Given the description of an element on the screen output the (x, y) to click on. 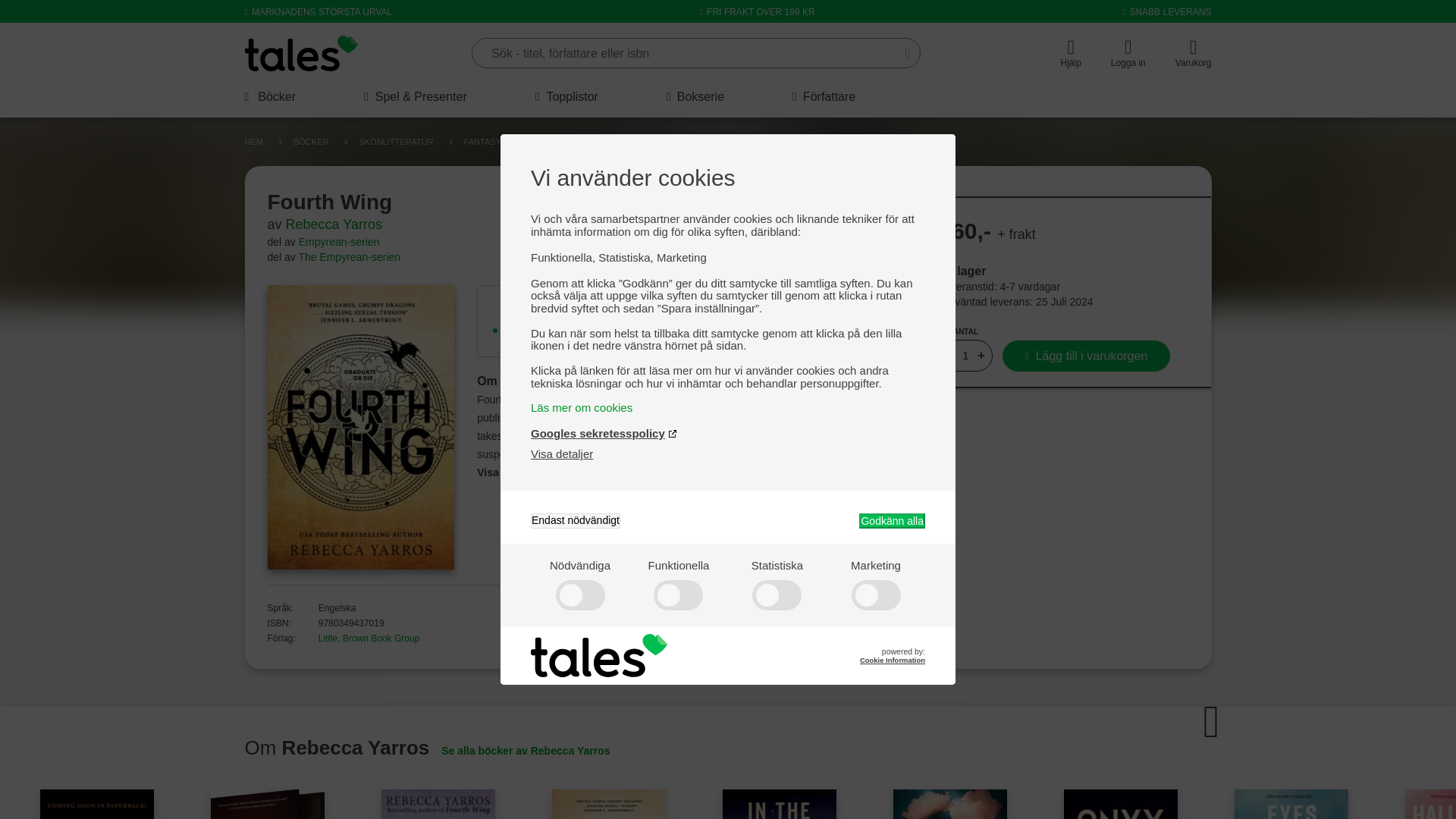
Googles sekretesspolicy (604, 432)
Visa detaljer (561, 453)
